Given the description of an element on the screen output the (x, y) to click on. 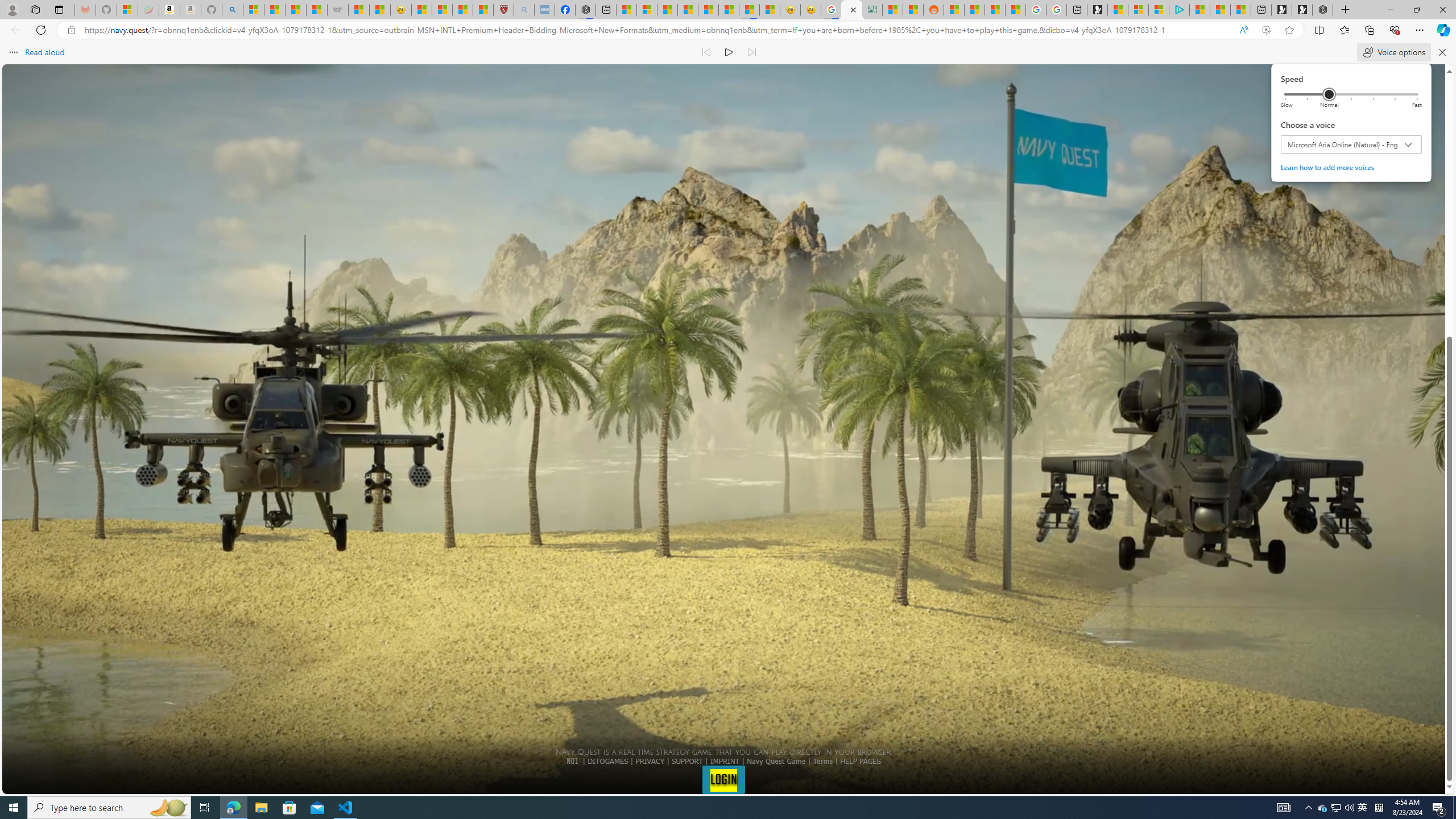
Close read aloud (1243, 29)
LOGIN (723, 778)
Combat Siege (337, 9)
Navy Quest Game (776, 760)
